Given the description of an element on the screen output the (x, y) to click on. 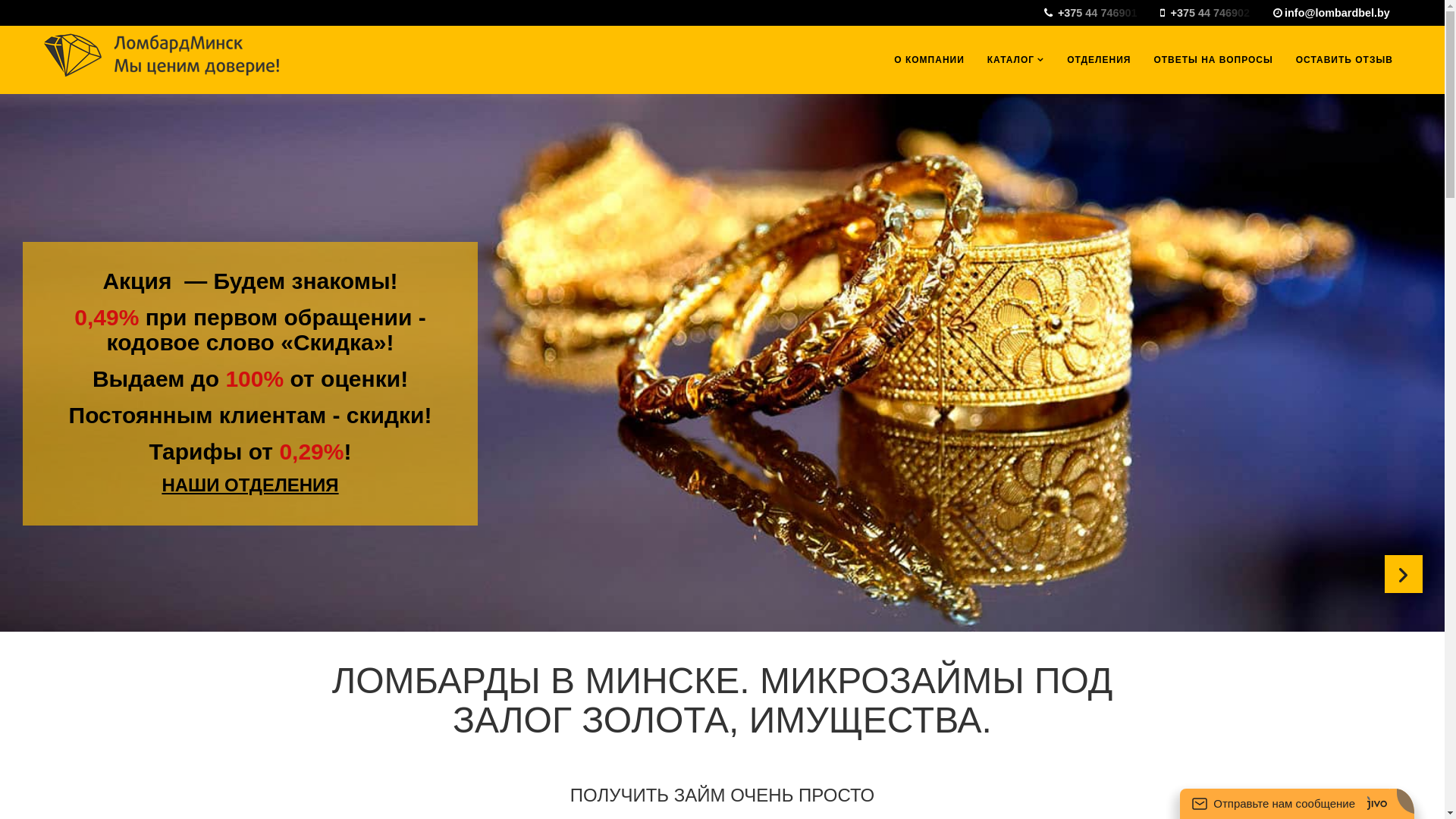
+375 44 746902 Element type: text (1212, 12)
+375 44 746901 Element type: text (1100, 12)
